Given the description of an element on the screen output the (x, y) to click on. 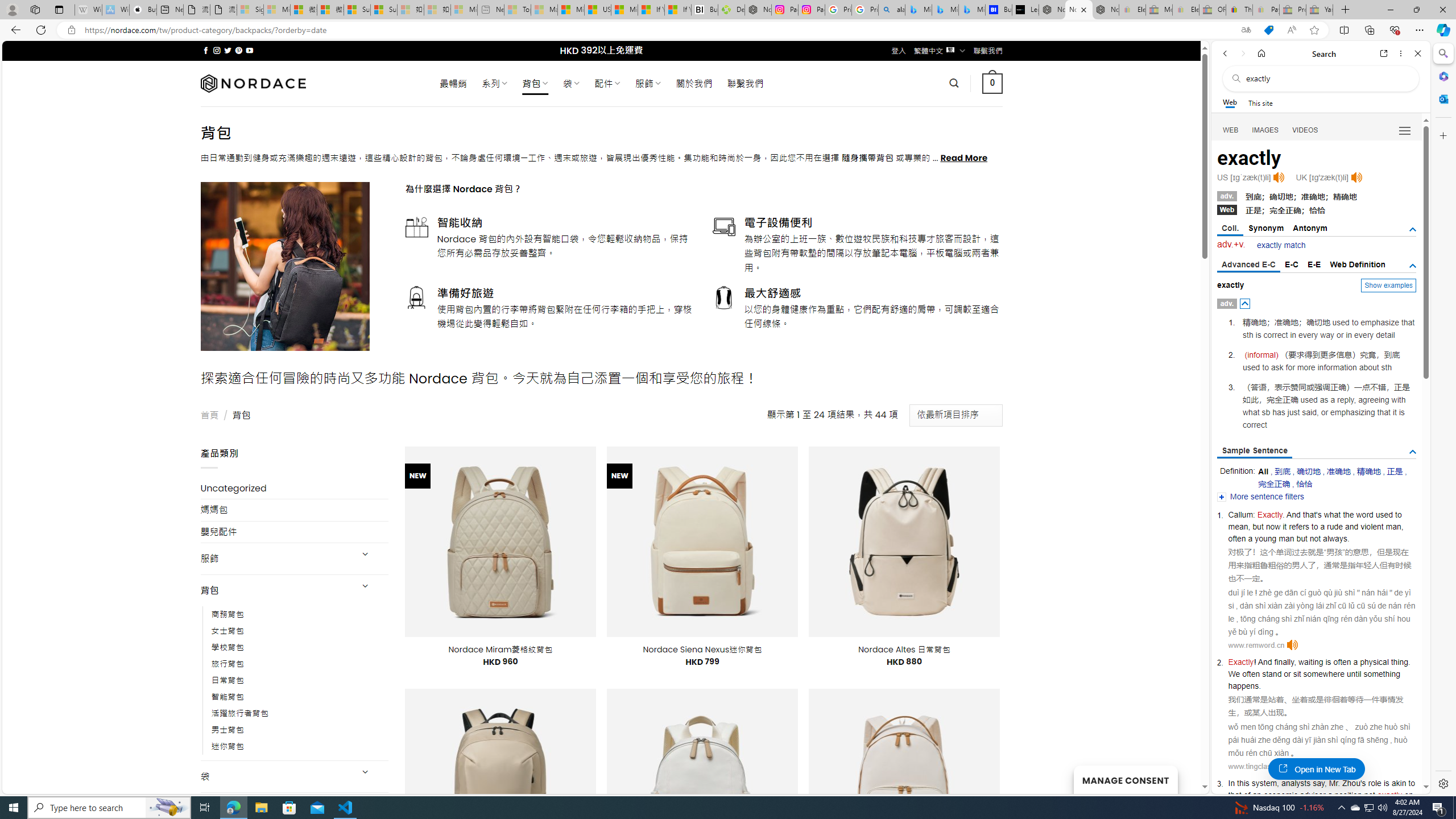
Search Filter, IMAGES (1265, 129)
analysts (1295, 782)
Coll. (1230, 228)
